Given the description of an element on the screen output the (x, y) to click on. 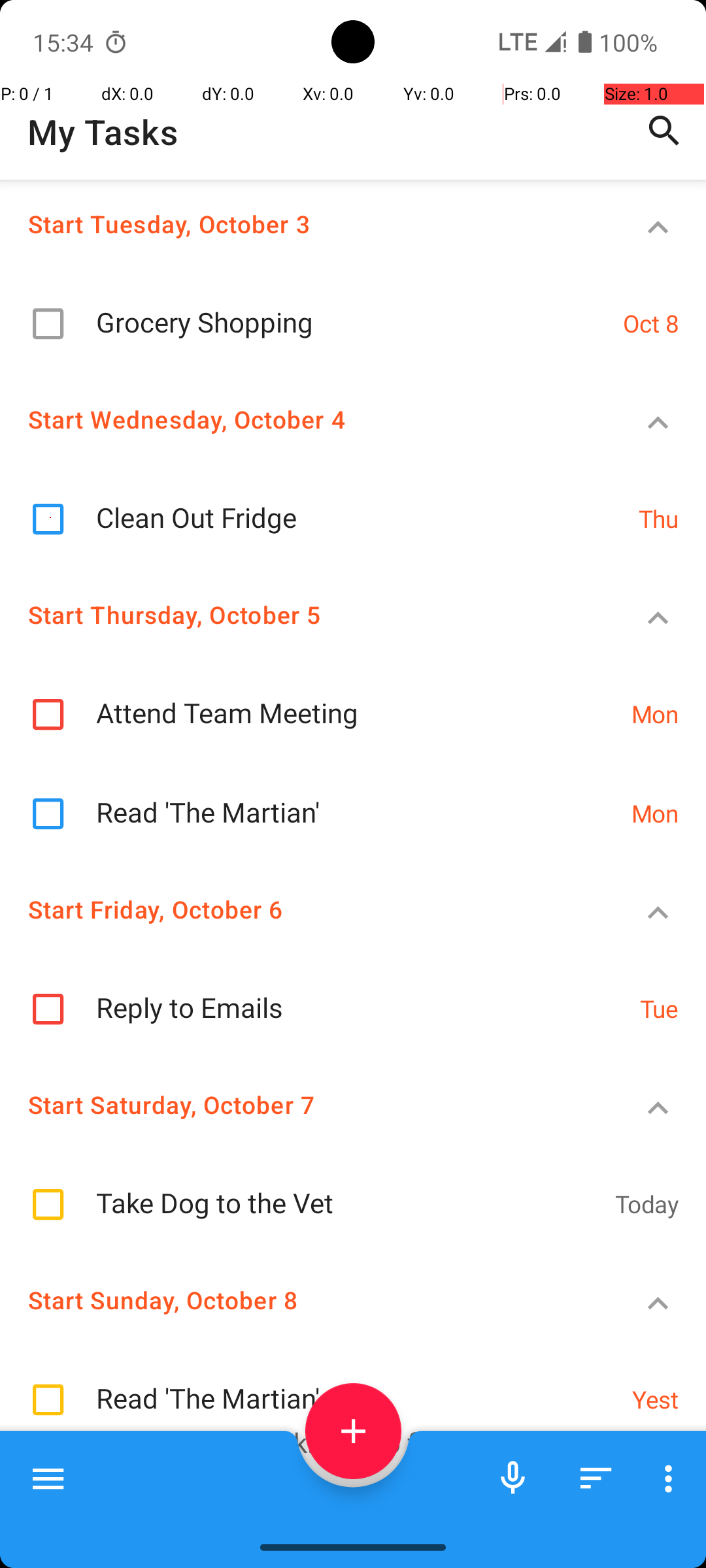
Start Tuesday, October 3 Element type: android.widget.TextView (304, 223)
Start Wednesday, October 4 Element type: android.widget.TextView (304, 419)
Start Thursday, October 5 Element type: android.widget.TextView (304, 614)
Start Friday, October 6 Element type: android.widget.TextView (304, 909)
Start Saturday, October 7 Element type: android.widget.TextView (304, 1104)
Start Sunday, October 8 Element type: android.widget.TextView (304, 1299)
Started last week. Aim to finish by next weekend. Element type: android.widget.TextView (346, 1457)
